Given the description of an element on the screen output the (x, y) to click on. 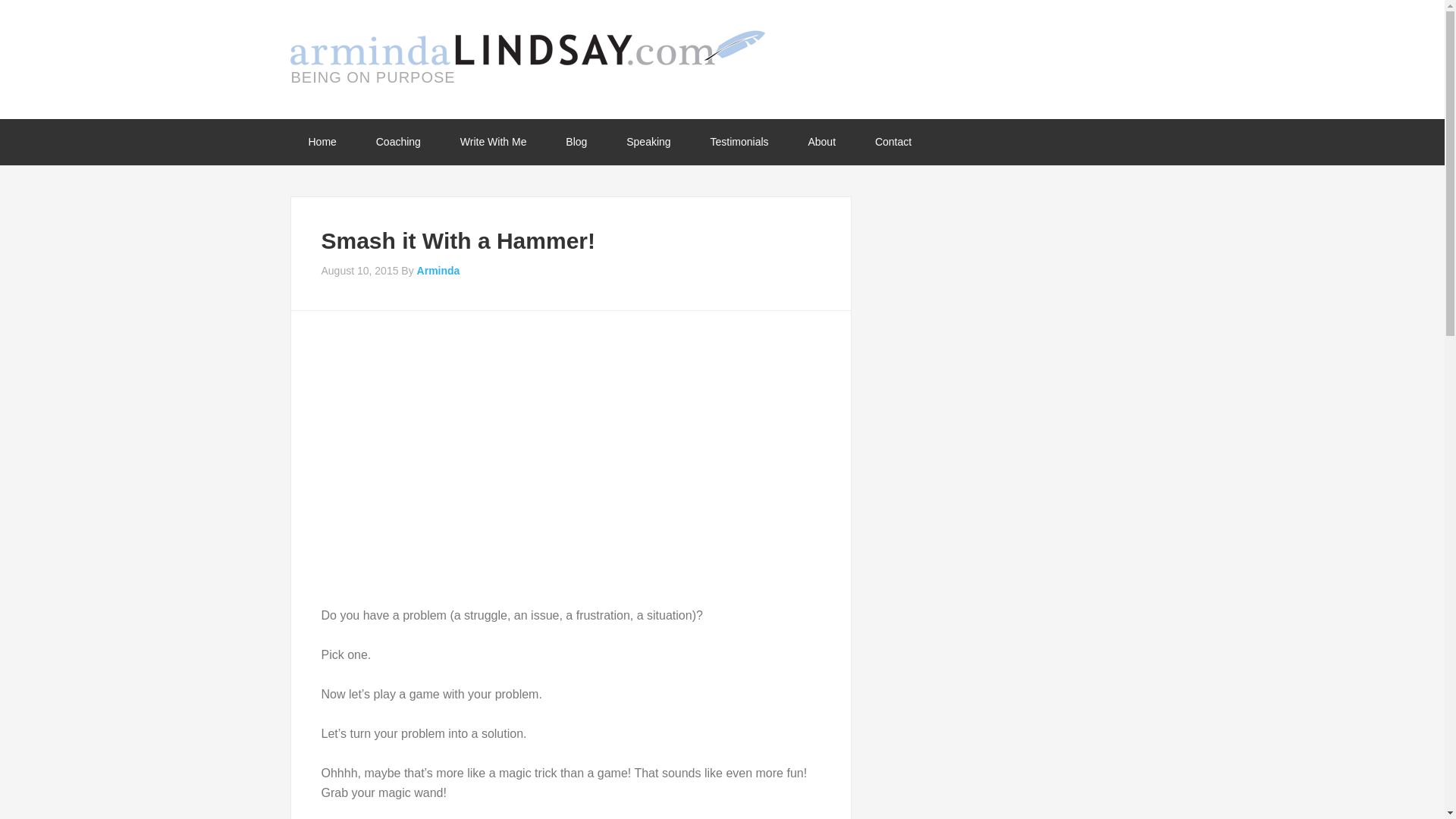
Write With Me (493, 141)
Blog (576, 141)
Contact (893, 141)
Coaching (398, 141)
Home (321, 141)
Arminda (438, 270)
Testimonials (740, 141)
About (821, 141)
Speaking (648, 141)
